Given the description of an element on the screen output the (x, y) to click on. 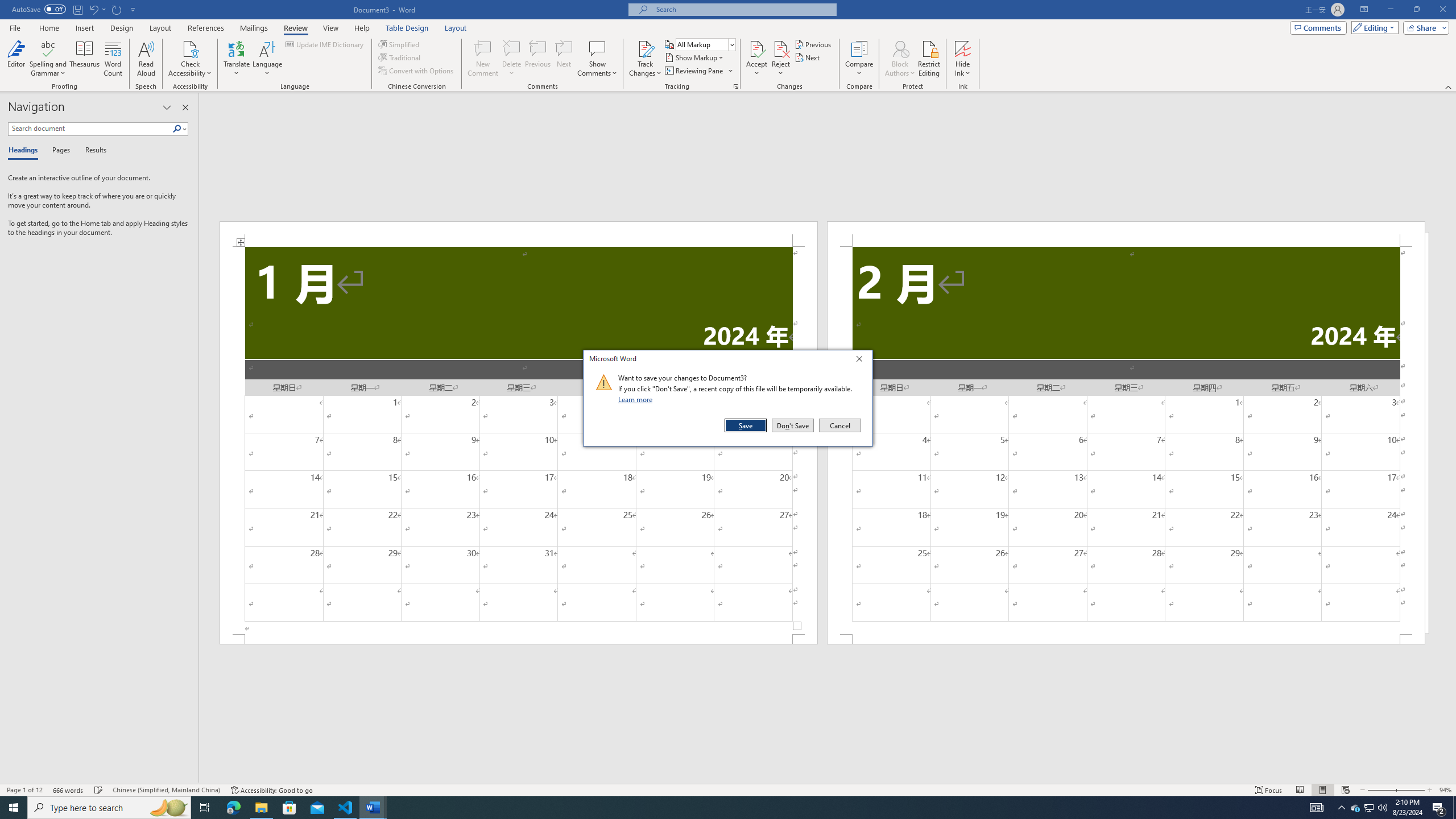
Reviewing Pane (698, 69)
Action Center, 2 new notifications (1439, 807)
Don't Save (792, 425)
Reject and Move to Next (780, 48)
Hide Ink (962, 48)
Thesaurus... (84, 58)
Accept (756, 58)
Repeat Doc Close (117, 9)
File Explorer - 1 running window (1355, 807)
AutoSave (261, 807)
Delete (38, 9)
